Given the description of an element on the screen output the (x, y) to click on. 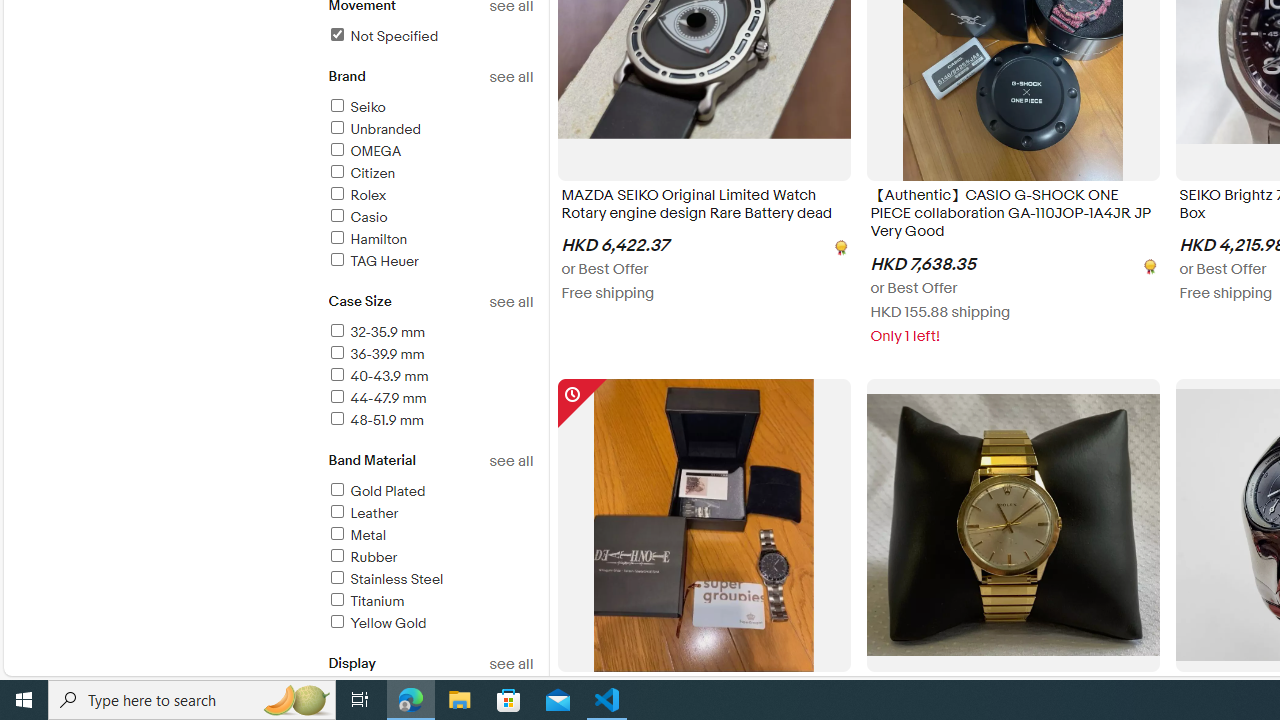
36-39.9 mm (430, 355)
48-51.9 mm (430, 421)
Hamilton (367, 239)
TAG Heuer (430, 262)
OMEGA (363, 151)
TAG Heuer (372, 261)
32-35.9 mm (430, 333)
Casio (356, 217)
Citizen (360, 173)
Casio (430, 218)
See all band material refinements (510, 461)
Not Specified Filter Applied (382, 36)
Stainless Steel (430, 579)
Stainless Steel (385, 579)
